Given the description of an element on the screen output the (x, y) to click on. 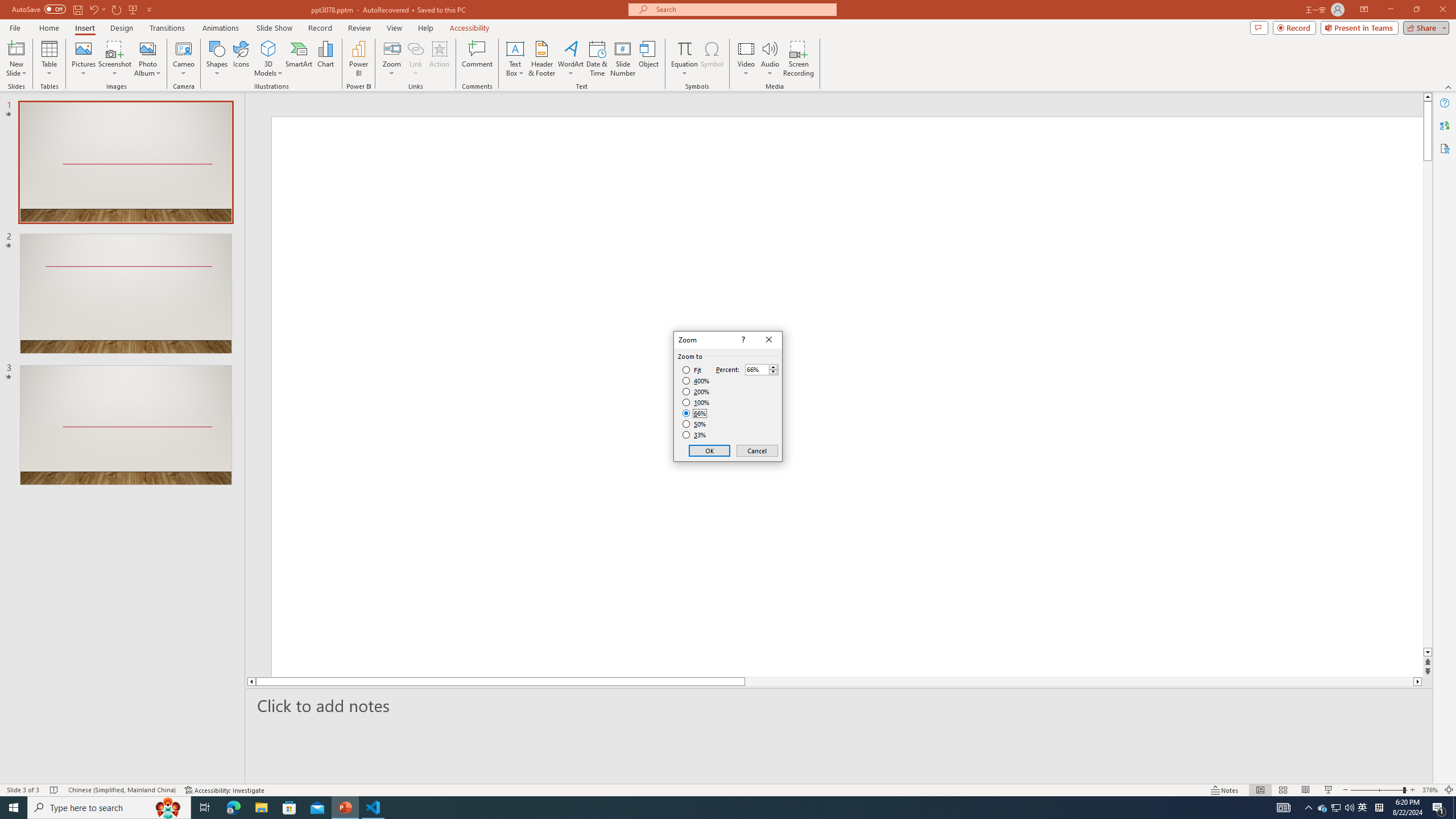
Object... (649, 58)
Context help (742, 339)
Video (745, 58)
Screen Recording... (798, 58)
Audio (769, 58)
33% (694, 434)
Power BI (358, 58)
